Given the description of an element on the screen output the (x, y) to click on. 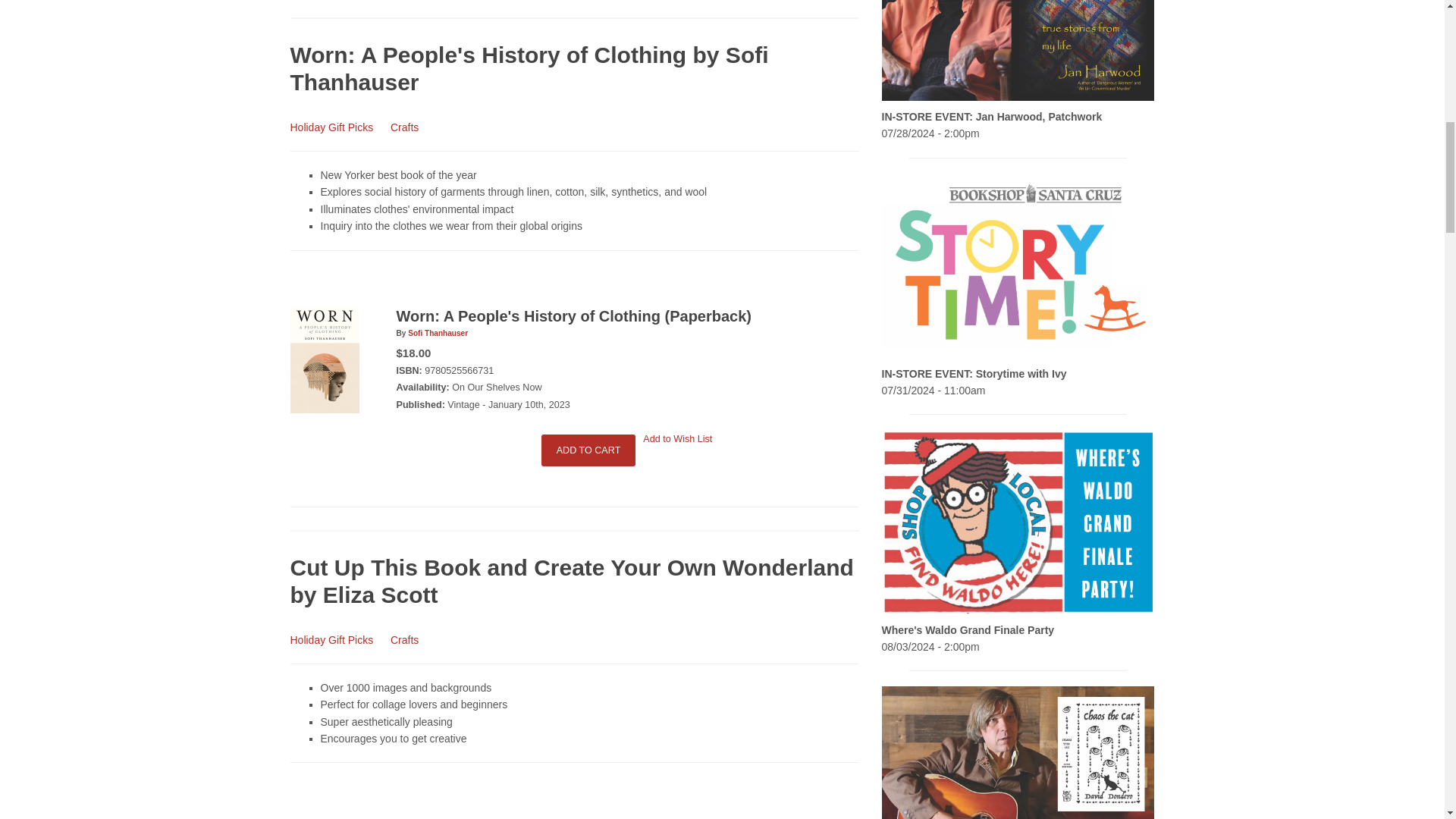
Add to Cart (588, 450)
